Given the description of an element on the screen output the (x, y) to click on. 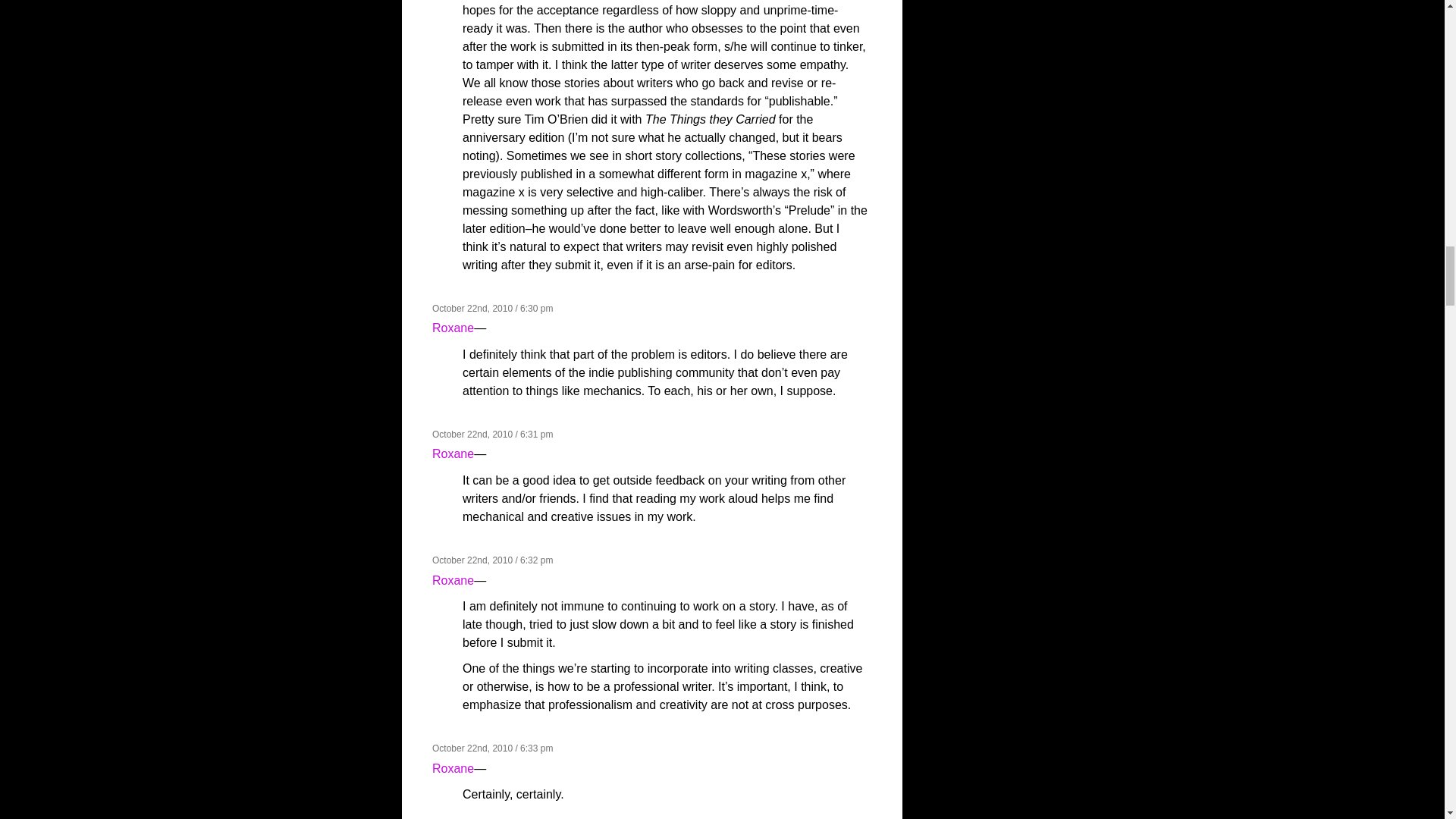
Roxane (453, 580)
Roxane (453, 327)
Roxane (453, 768)
Roxane (453, 453)
